Given the description of an element on the screen output the (x, y) to click on. 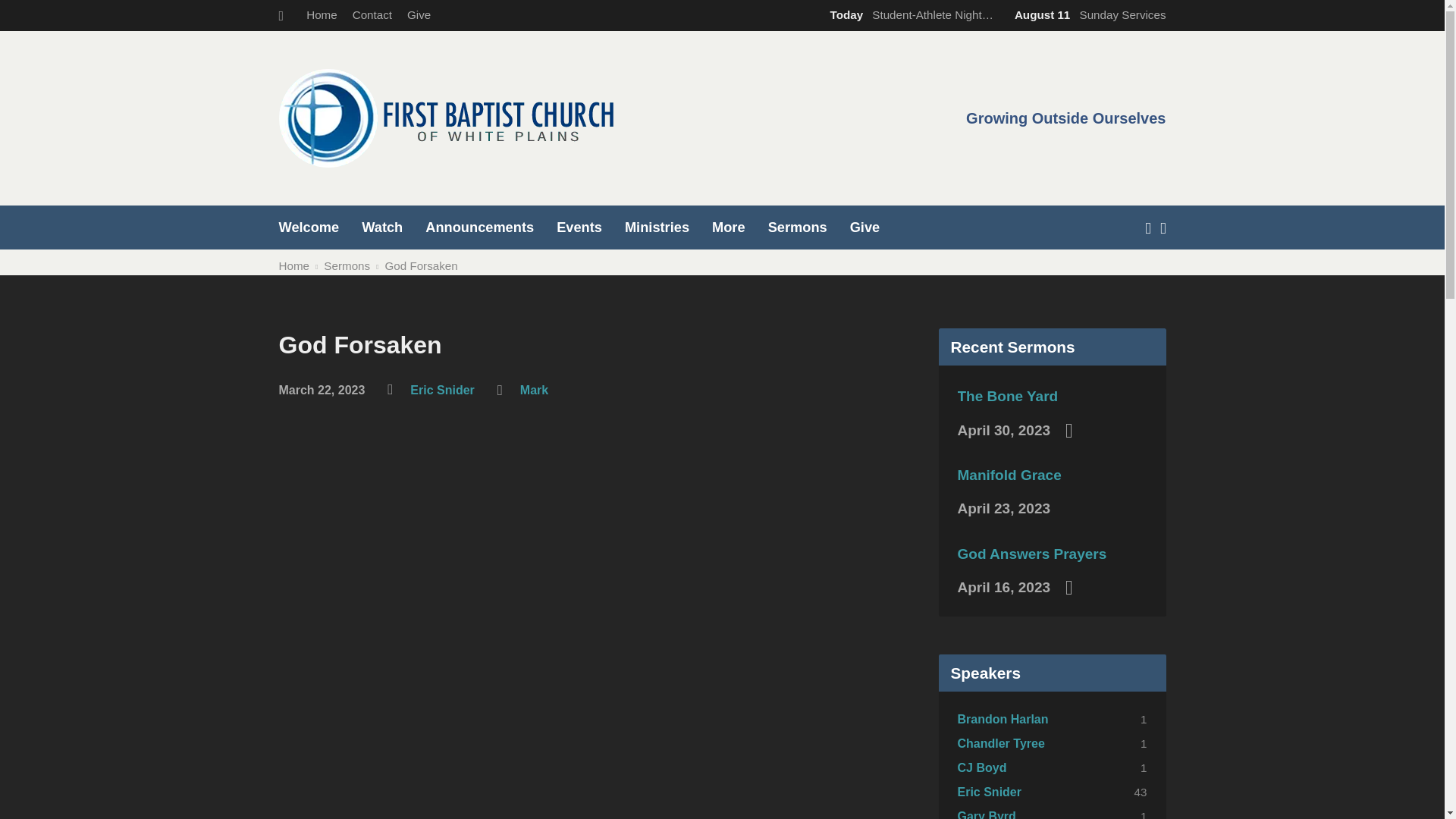
Give (418, 14)
Events (579, 227)
God Answers Prayers (1031, 553)
Watch (382, 227)
More (728, 227)
Contact (371, 14)
The Bone Yard (1007, 396)
Sunday Services (1087, 14)
Ministries (656, 227)
